Given the description of an element on the screen output the (x, y) to click on. 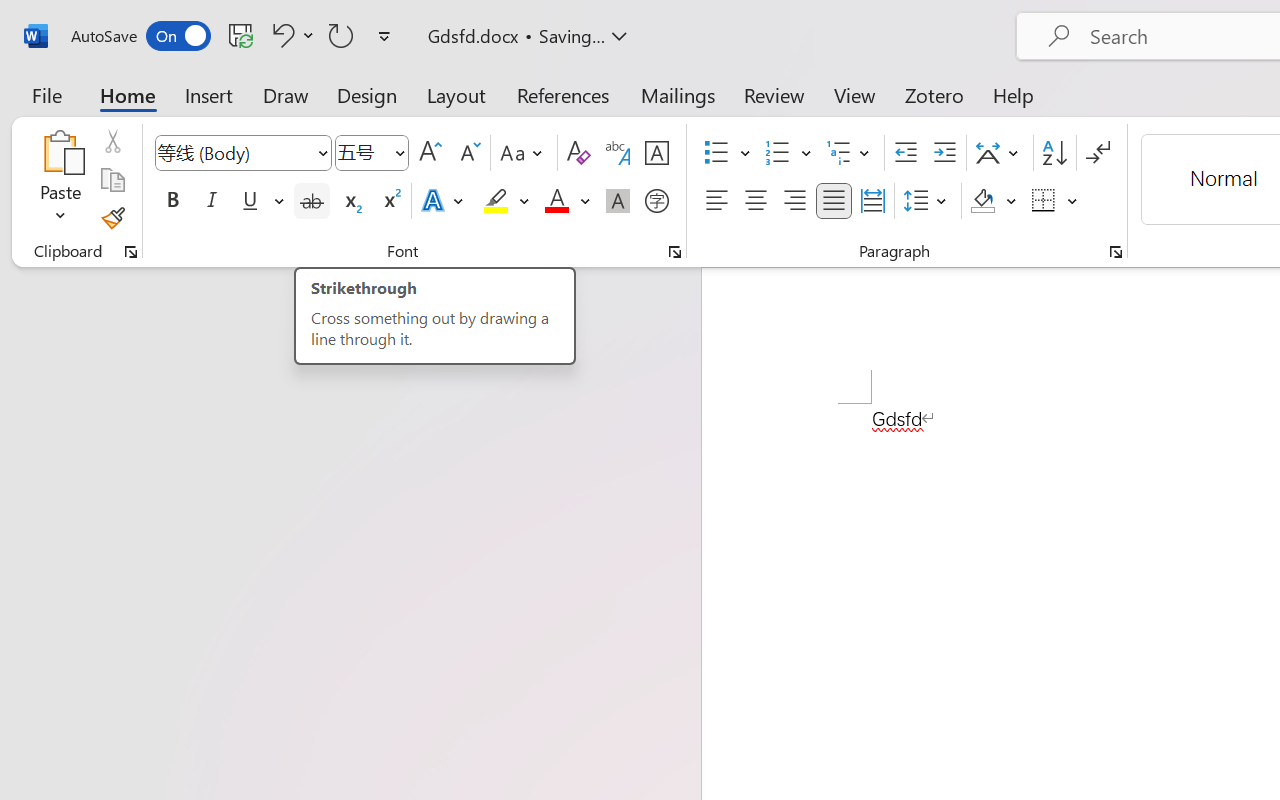
Font Color (567, 201)
Undo Style (280, 35)
Superscript (390, 201)
Text Highlight Color (506, 201)
Change Case (524, 153)
Subscript (350, 201)
